Given the description of an element on the screen output the (x, y) to click on. 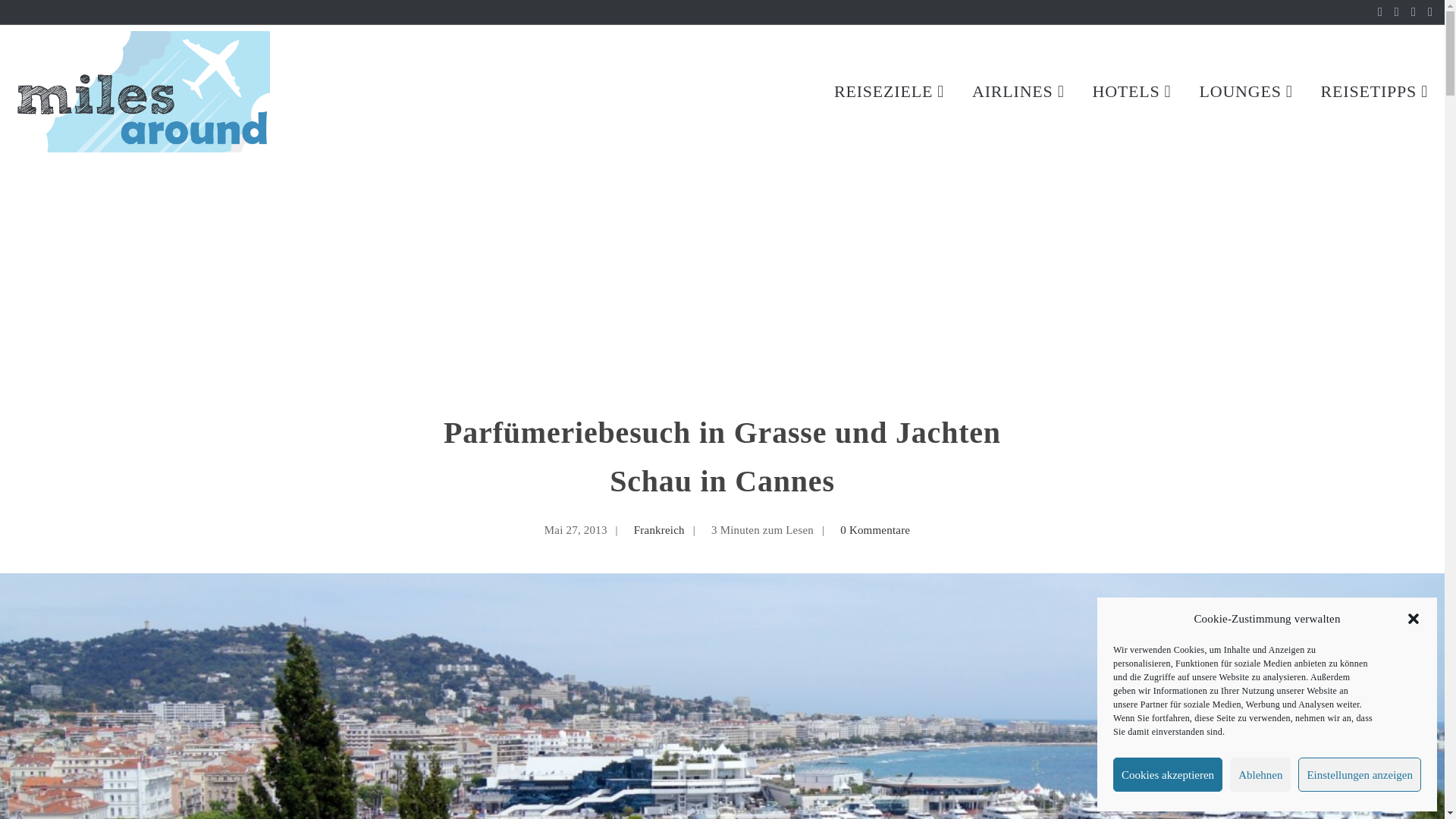
Einstellungen anzeigen (1359, 774)
Cookies akzeptieren (1168, 774)
Ablehnen (1260, 774)
REISEZIELE (890, 91)
